Given the description of an element on the screen output the (x, y) to click on. 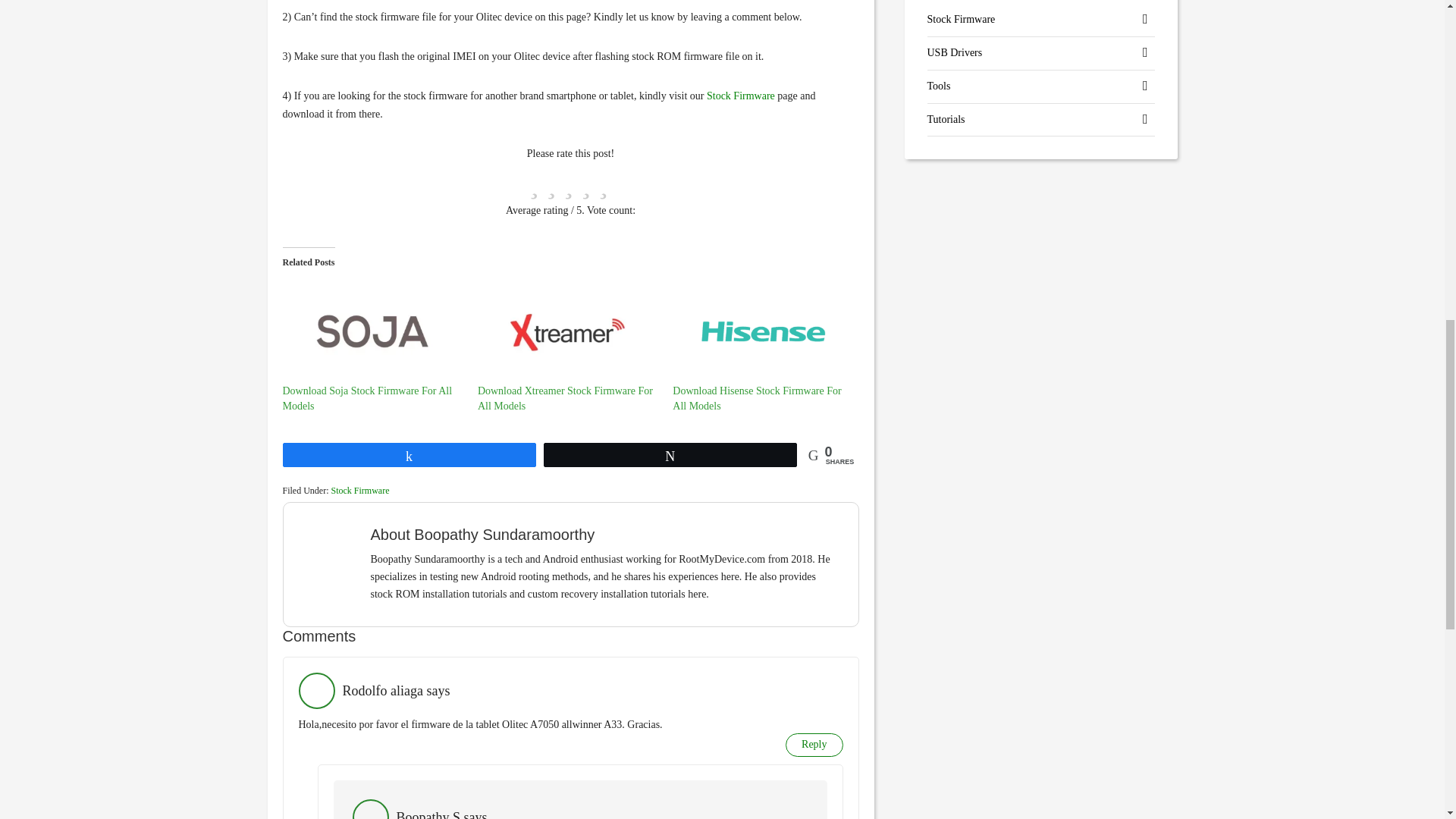
Gravatar for Boopathy S (370, 809)
Download Xtreamer Stock Firmware For All Models (564, 397)
Download Xtreamer Stock Firmware For All Models (567, 332)
Download Xtreamer Stock Firmware For All Models (564, 397)
Download Soja Stock Firmware For All Models (366, 397)
Download Soja Stock Firmware For All Models (371, 332)
Stock Firmware (740, 95)
Stock Firmware (359, 490)
Download Hisense Stock Firmware For All Models (761, 332)
Gravatar for Rodolfo aliaga (316, 690)
